Given the description of an element on the screen output the (x, y) to click on. 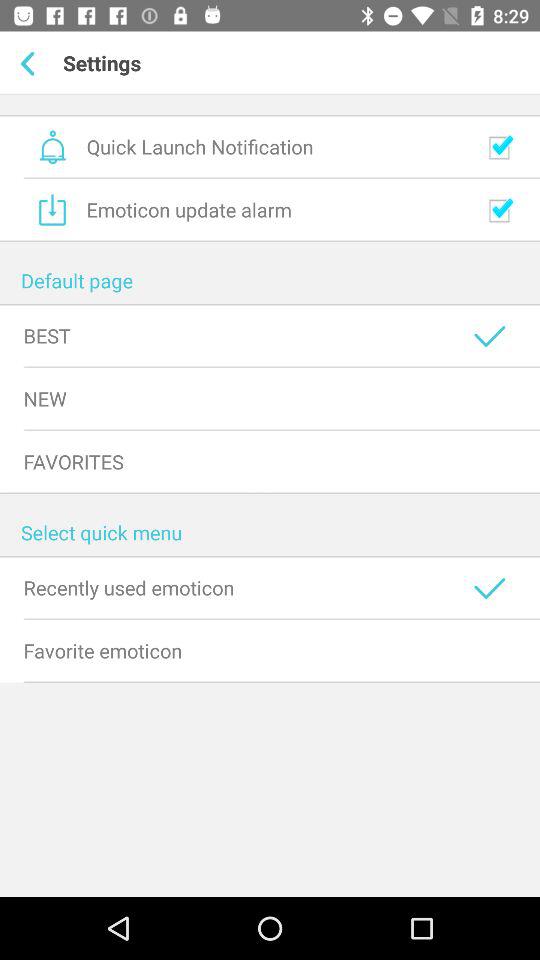
return to settings (31, 63)
